Given the description of an element on the screen output the (x, y) to click on. 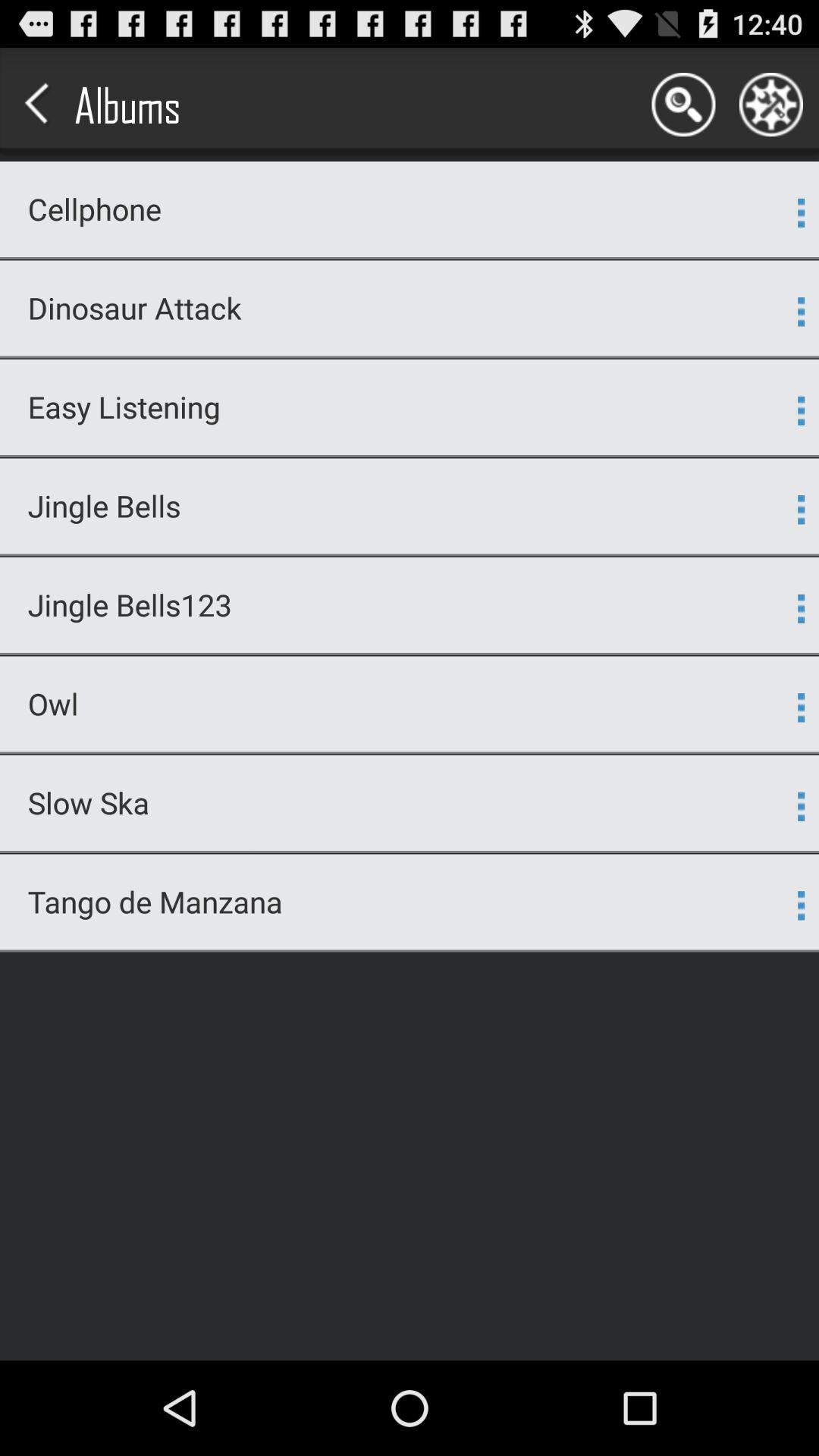
open the slow ska (400, 802)
